Given the description of an element on the screen output the (x, y) to click on. 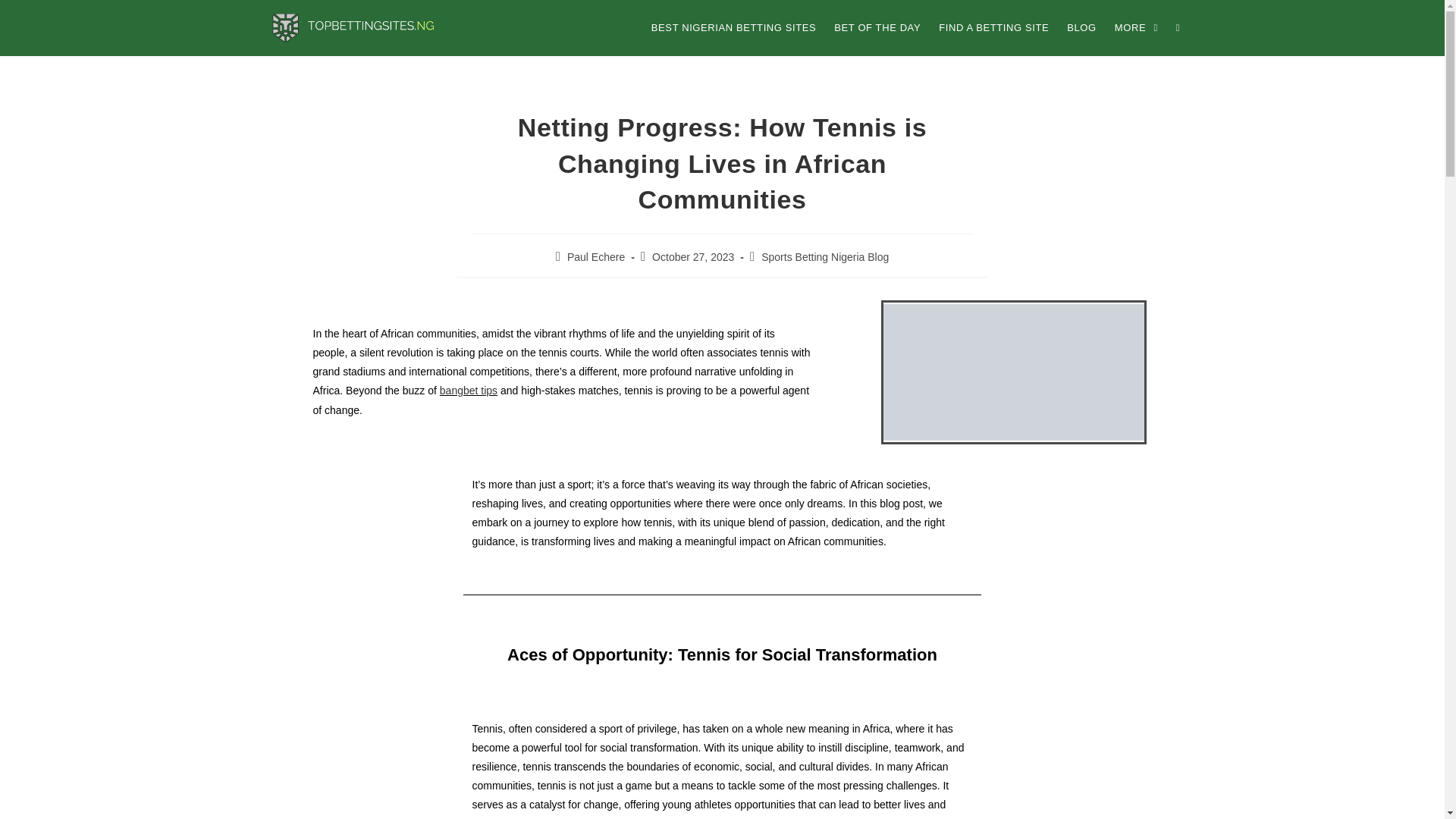
Posts by Paul Echere (595, 256)
BET OF THE DAY (877, 28)
FIND A BETTING SITE (994, 28)
BEST NIGERIAN BETTING SITES (733, 28)
MORE (1136, 28)
